Given the description of an element on the screen output the (x, y) to click on. 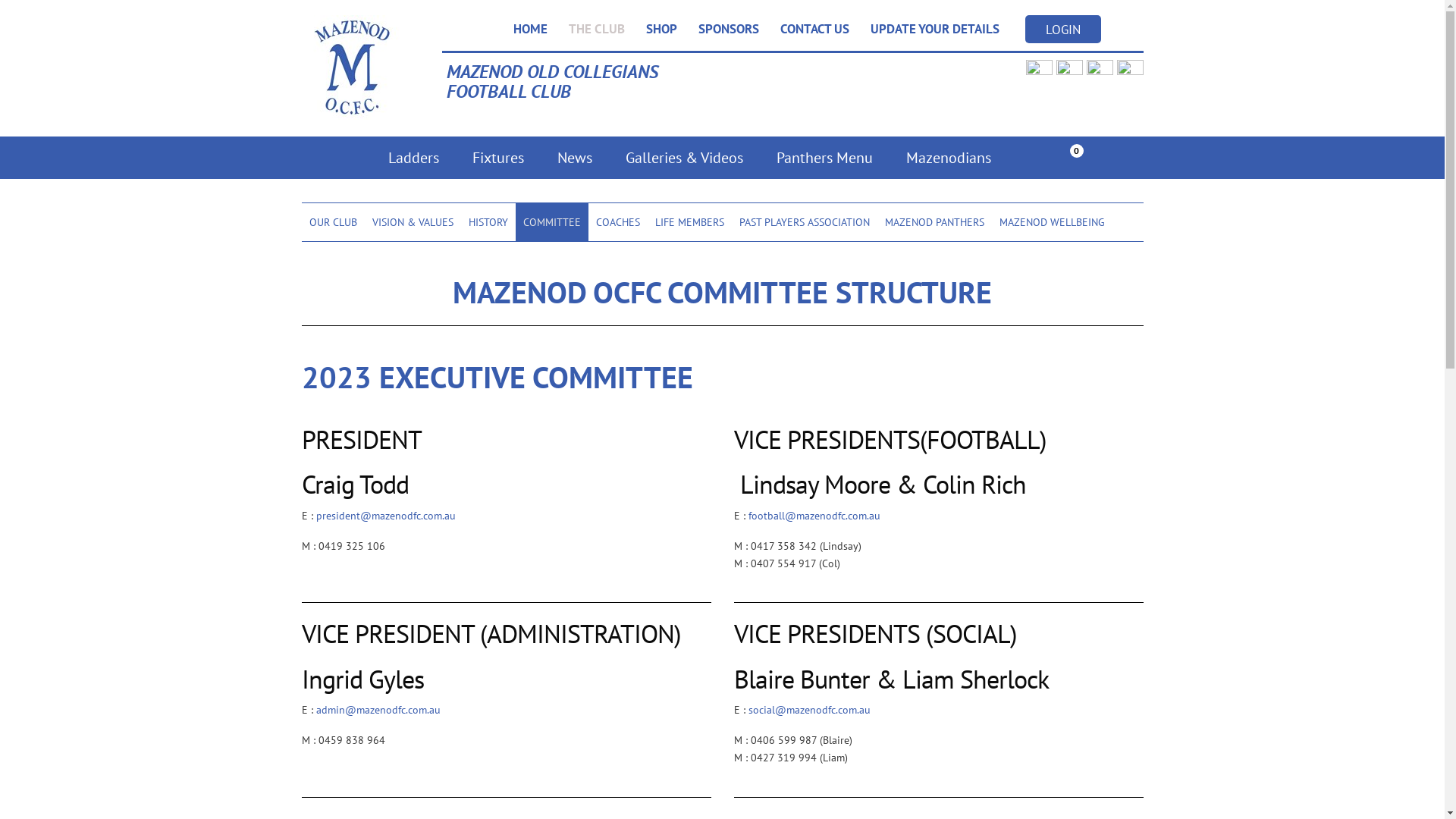
Ladders Element type: text (413, 157)
HOME Element type: text (529, 28)
THE CLUB Element type: text (596, 28)
SPONSORS Element type: text (727, 28)
0 Element type: text (1105, 159)
COACHES Element type: text (617, 222)
admin@mazenodfc.com.au Element type: text (377, 709)
president@mazenodfc.com.au Element type: text (385, 515)
LOGIN Element type: text (1063, 29)
Galleries & Videos Element type: text (683, 157)
Panthers Menu Element type: text (824, 157)
Fixtures Element type: text (497, 157)
social@mazenodfc.com.au Element type: text (808, 709)
HISTORY Element type: text (488, 222)
MAZENOD PANTHERS Element type: text (933, 222)
LIFE MEMBERS Element type: text (689, 222)
COMMITTEE Element type: text (551, 222)
VISION & VALUES Element type: text (412, 222)
football@mazenodfc.com.au Element type: text (813, 515)
UPDATE YOUR DETAILS Element type: text (934, 28)
PAST PLAYERS ASSOCIATION Element type: text (803, 222)
MAZENOD WELLBEING Element type: text (1051, 222)
SHOP Element type: text (661, 28)
News Element type: text (573, 157)
CONTACT US Element type: text (813, 28)
OUR CLUB Element type: text (332, 222)
Mazenodians Element type: text (947, 157)
